Given the description of an element on the screen output the (x, y) to click on. 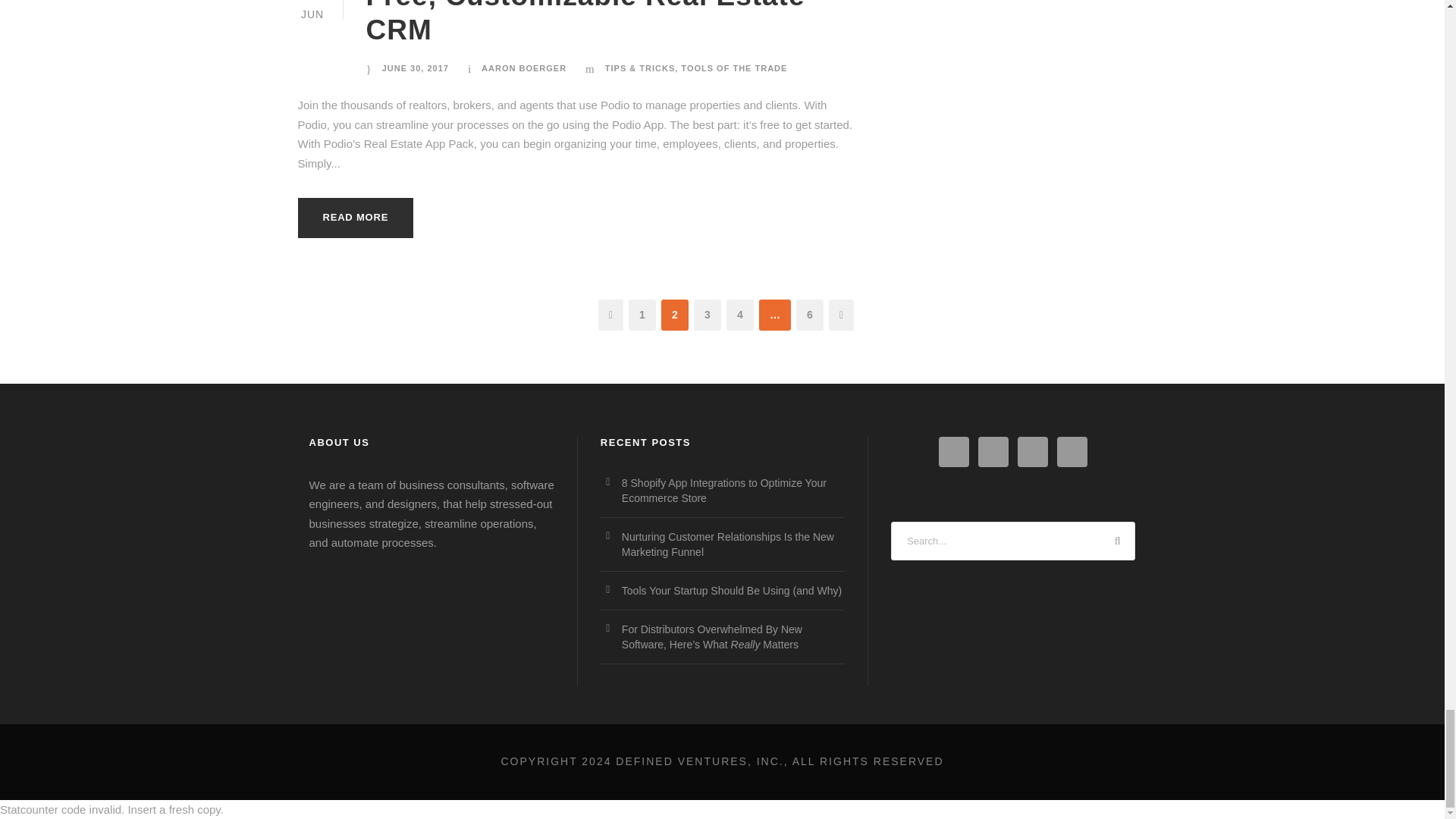
Posts by Aaron Boerger (523, 67)
